Given the description of an element on the screen output the (x, y) to click on. 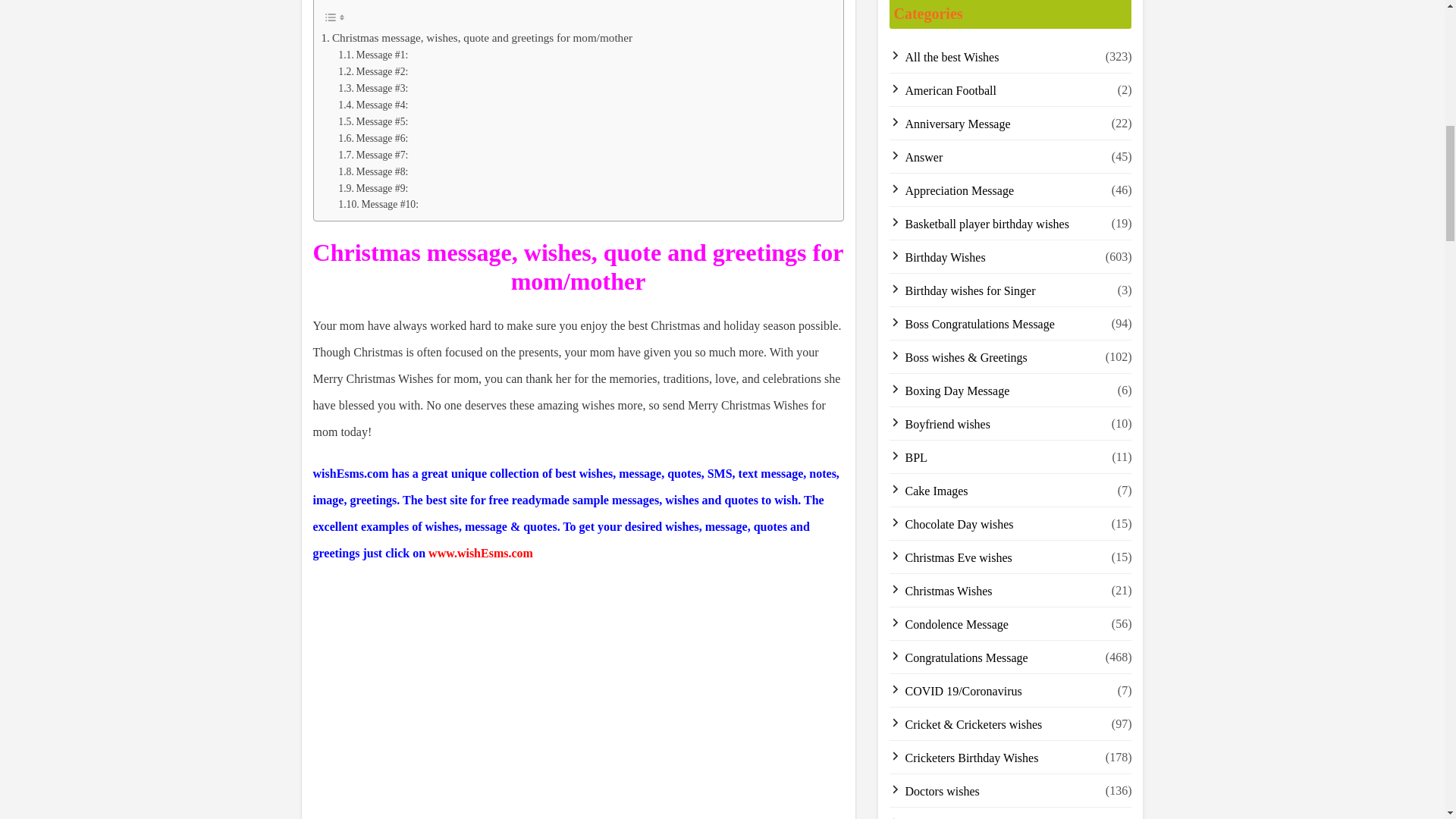
www.wishEsms.com (480, 553)
